Given the description of an element on the screen output the (x, y) to click on. 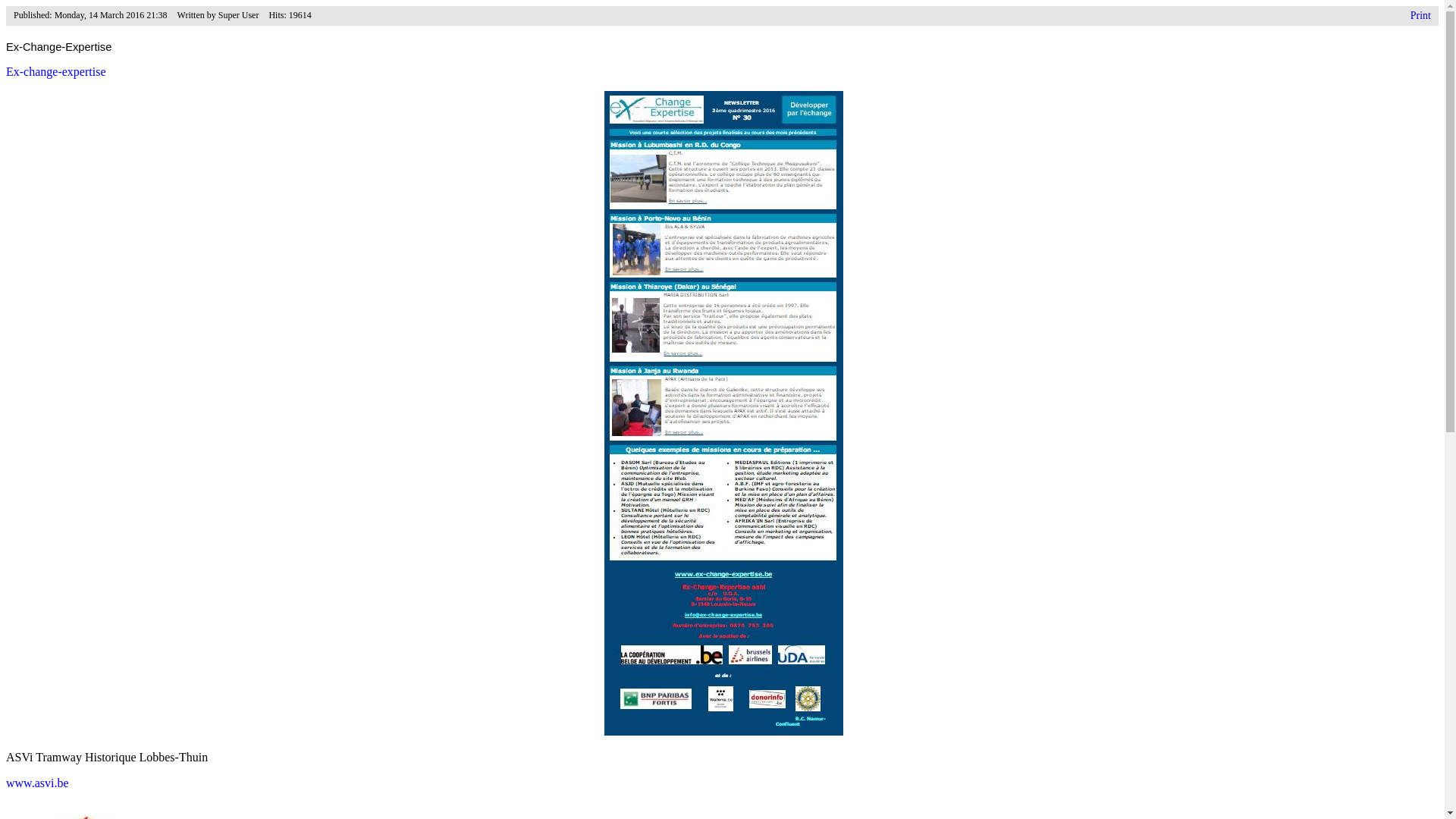
www.asvi.be Element type: text (37, 782)
Ex-change-expertise Element type: text (55, 71)
Print Element type: text (1420, 15)
